Given the description of an element on the screen output the (x, y) to click on. 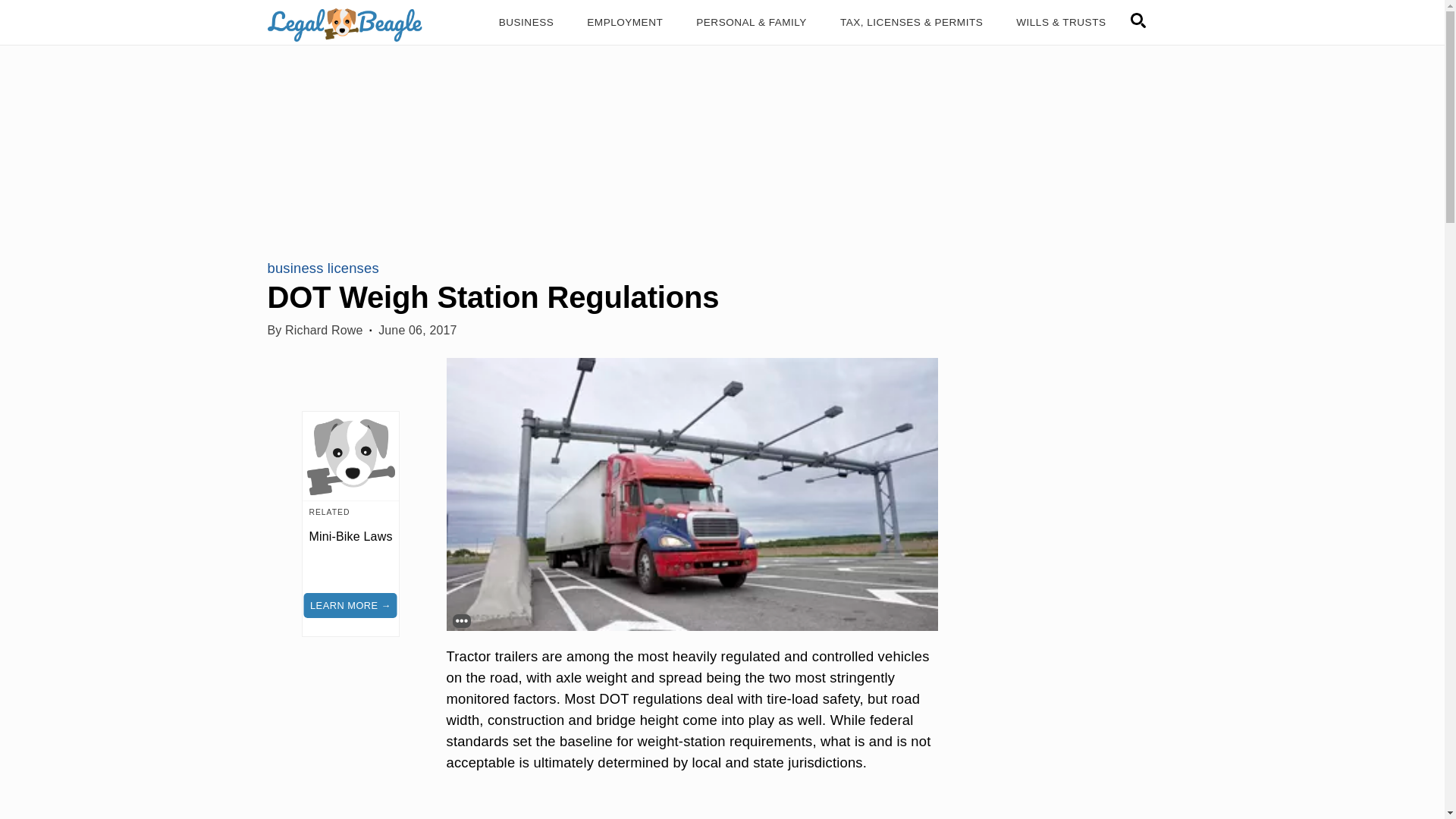
BUSINESS (526, 22)
Advertisement (691, 808)
EMPLOYMENT (624, 22)
